Given the description of an element on the screen output the (x, y) to click on. 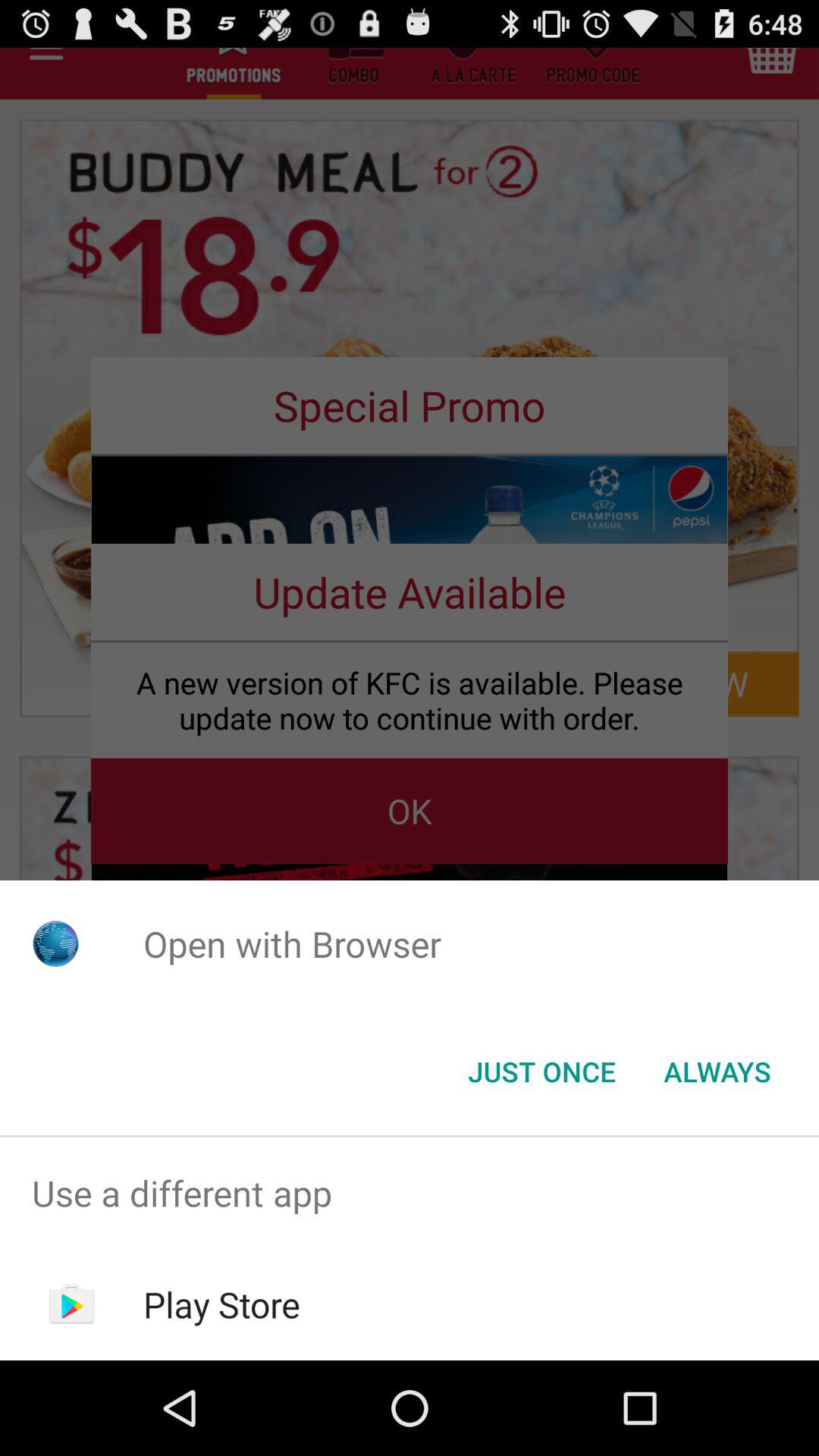
turn off use a different (409, 1192)
